Given the description of an element on the screen output the (x, y) to click on. 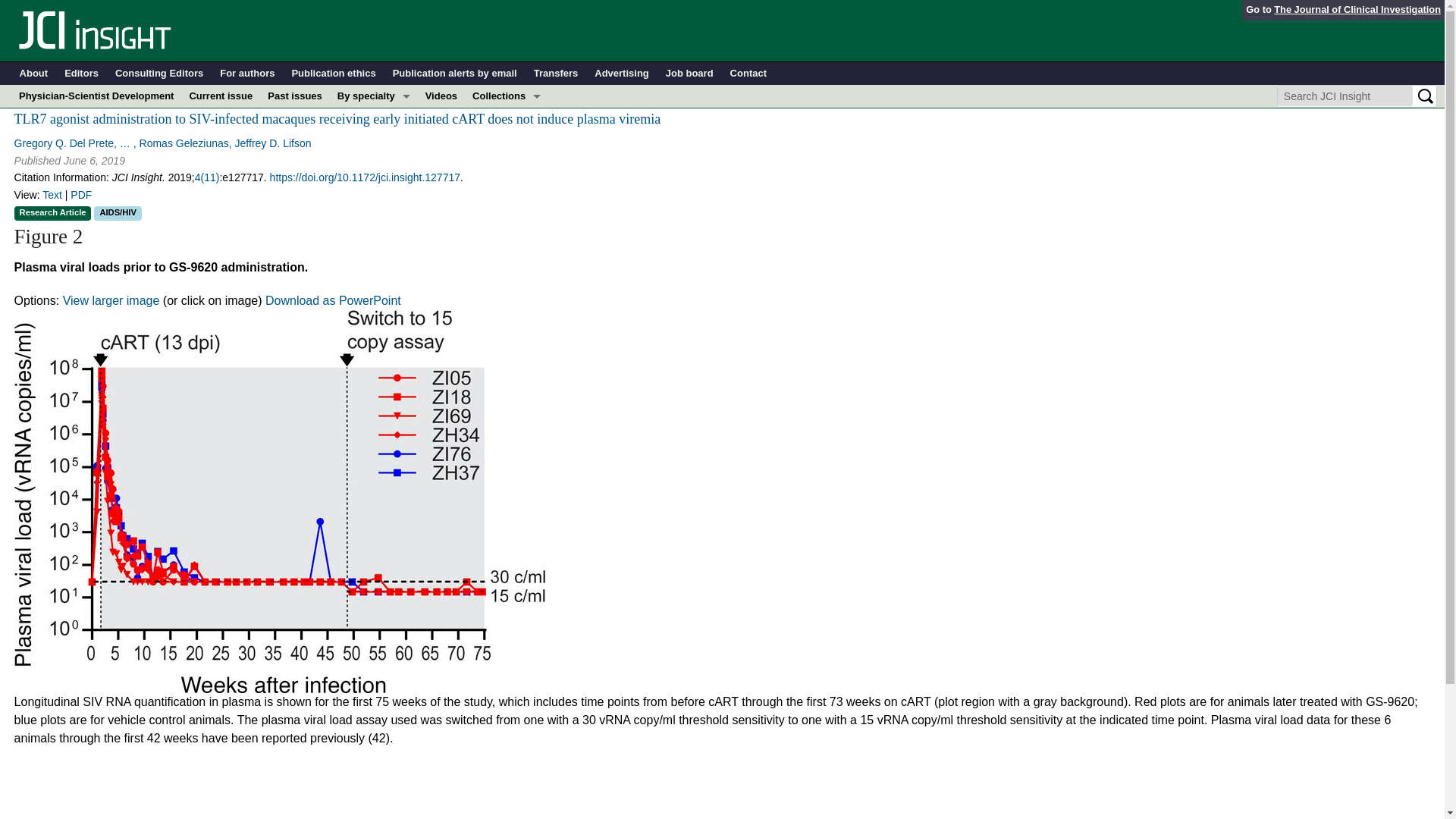
Reviews (506, 255)
Physician-Scientist Development (506, 232)
Oncology (373, 232)
Consulting Editors (159, 73)
Past issues (295, 96)
COVID-19 (373, 118)
Cardiology (373, 141)
By specialty (373, 96)
Collections (506, 96)
Top read articles (506, 277)
Immunology (373, 164)
Editorials (506, 187)
Metabolism (373, 187)
Current issue (220, 96)
